Given the description of an element on the screen output the (x, y) to click on. 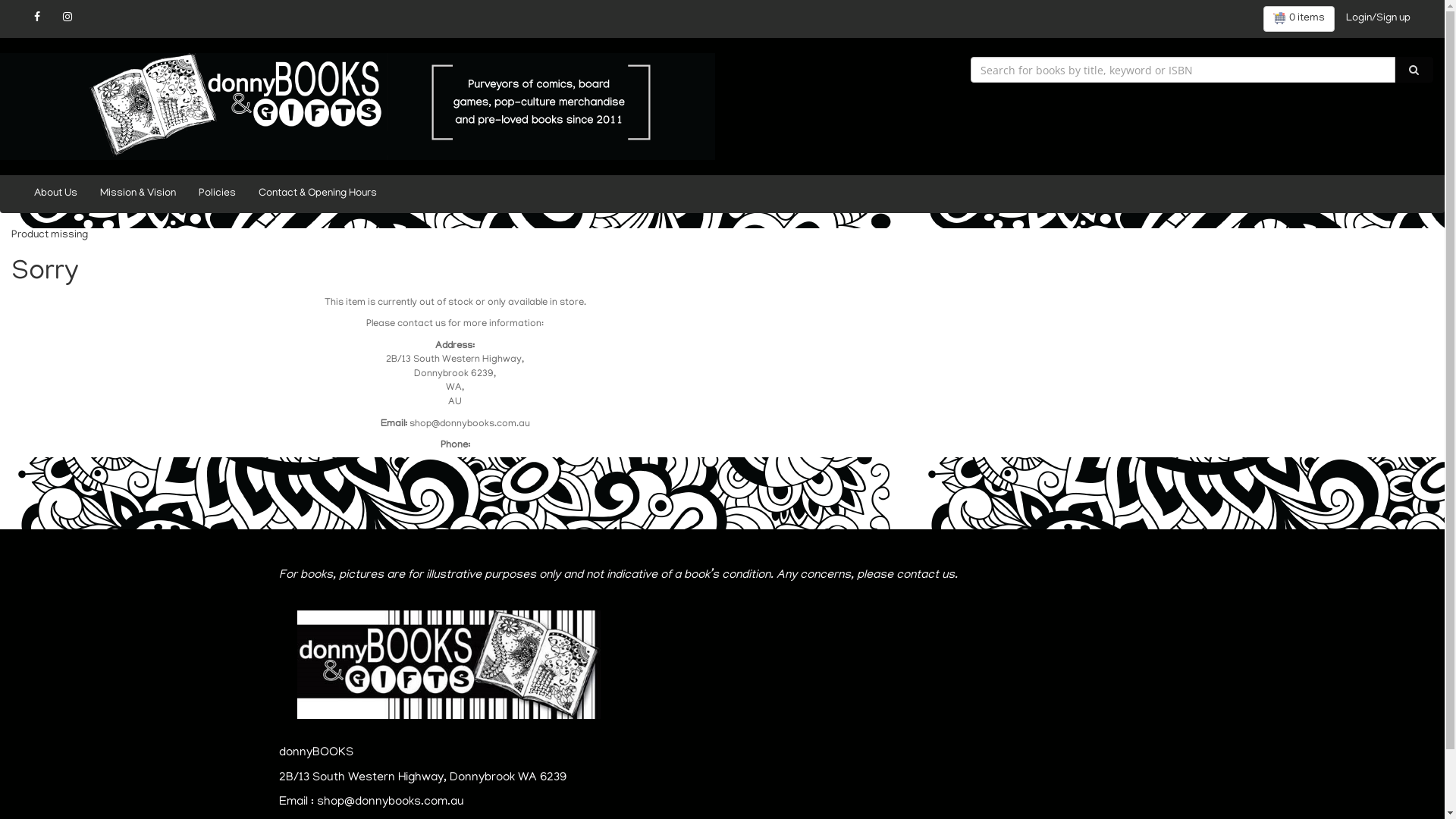
0 items Element type: text (1298, 18)
About Us Element type: text (55, 194)
Login/Sign up Element type: text (1377, 18)
Mission & Vision Element type: text (137, 194)
Contact & Opening Hours Element type: text (317, 194)
Policies Element type: text (217, 194)
shop@donnybooks.com.au Element type: text (469, 423)
shop@donnybooks.com.au Element type: text (390, 802)
0 items Element type: text (1298, 18)
